Given the description of an element on the screen output the (x, y) to click on. 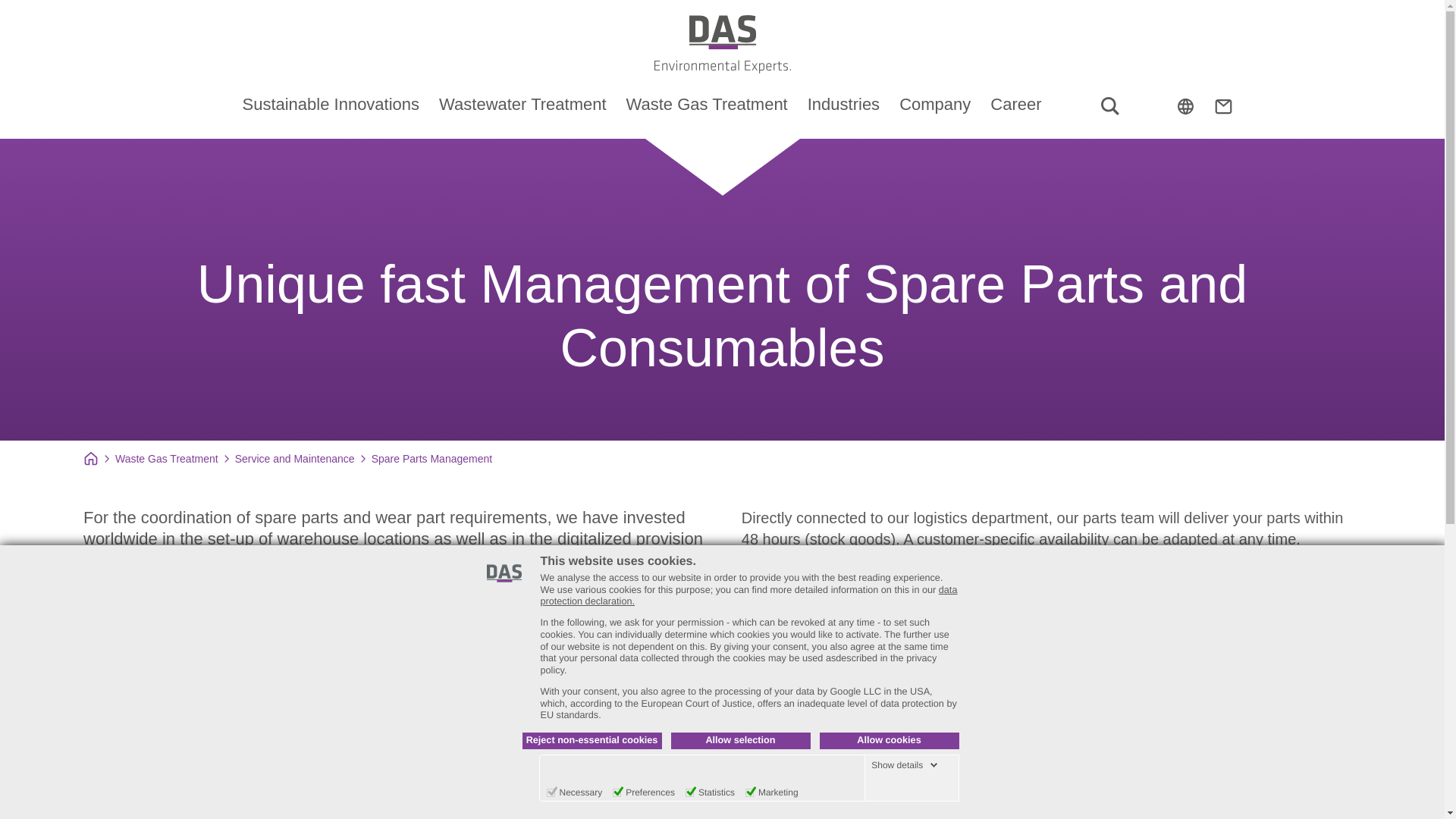
Show details (903, 765)
Allow selection (739, 740)
Allow cookies (888, 740)
data protection declaration. (748, 595)
Reject non-essential cookies (591, 740)
